Given the description of an element on the screen output the (x, y) to click on. 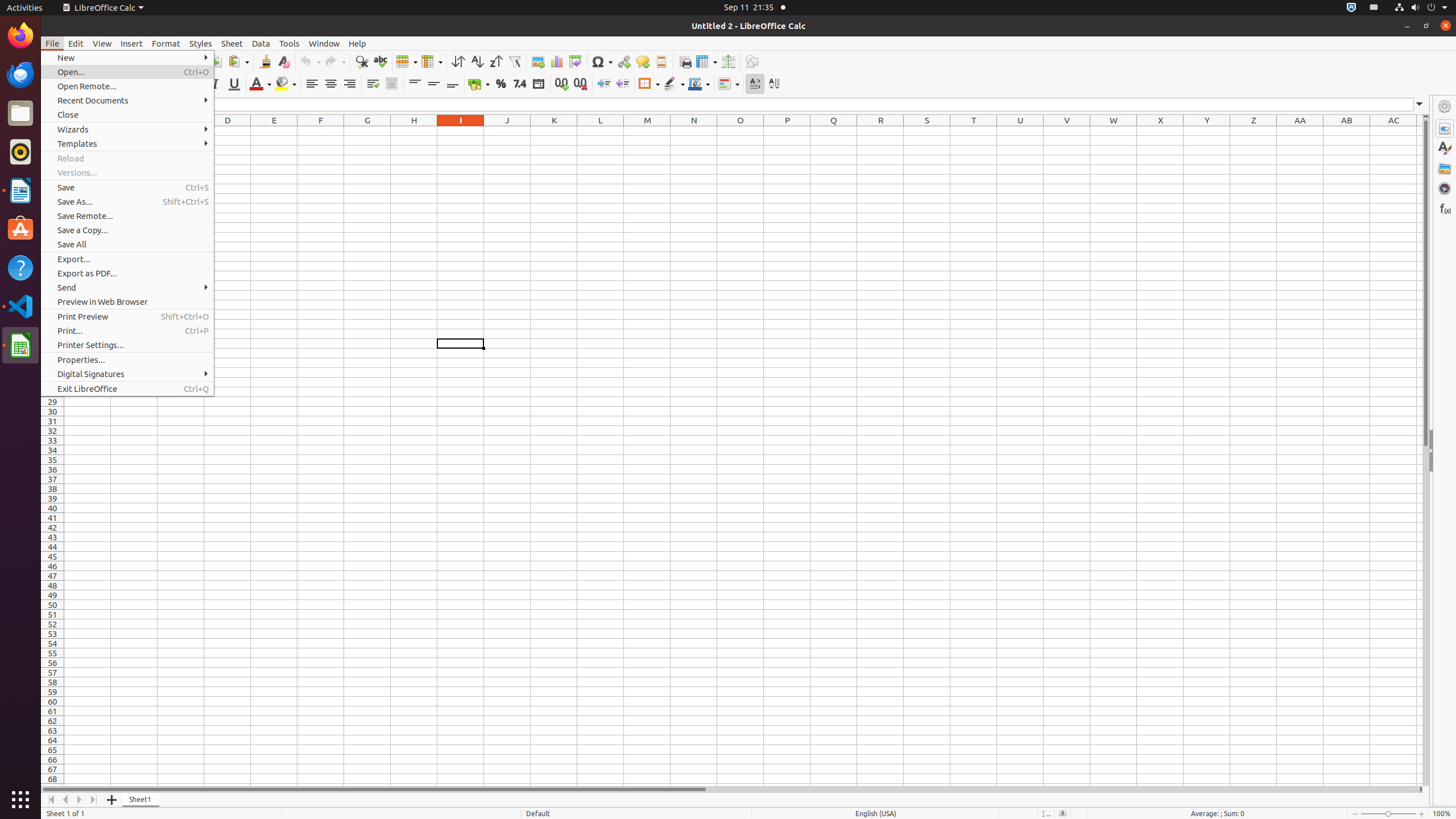
Navigator Element type: radio-button (1444, 188)
Freeze Rows and Columns Element type: push-button (705, 61)
Edit Element type: menu (75, 43)
E1 Element type: table-cell (273, 130)
Draw Functions Element type: toggle-button (751, 61)
